Given the description of an element on the screen output the (x, y) to click on. 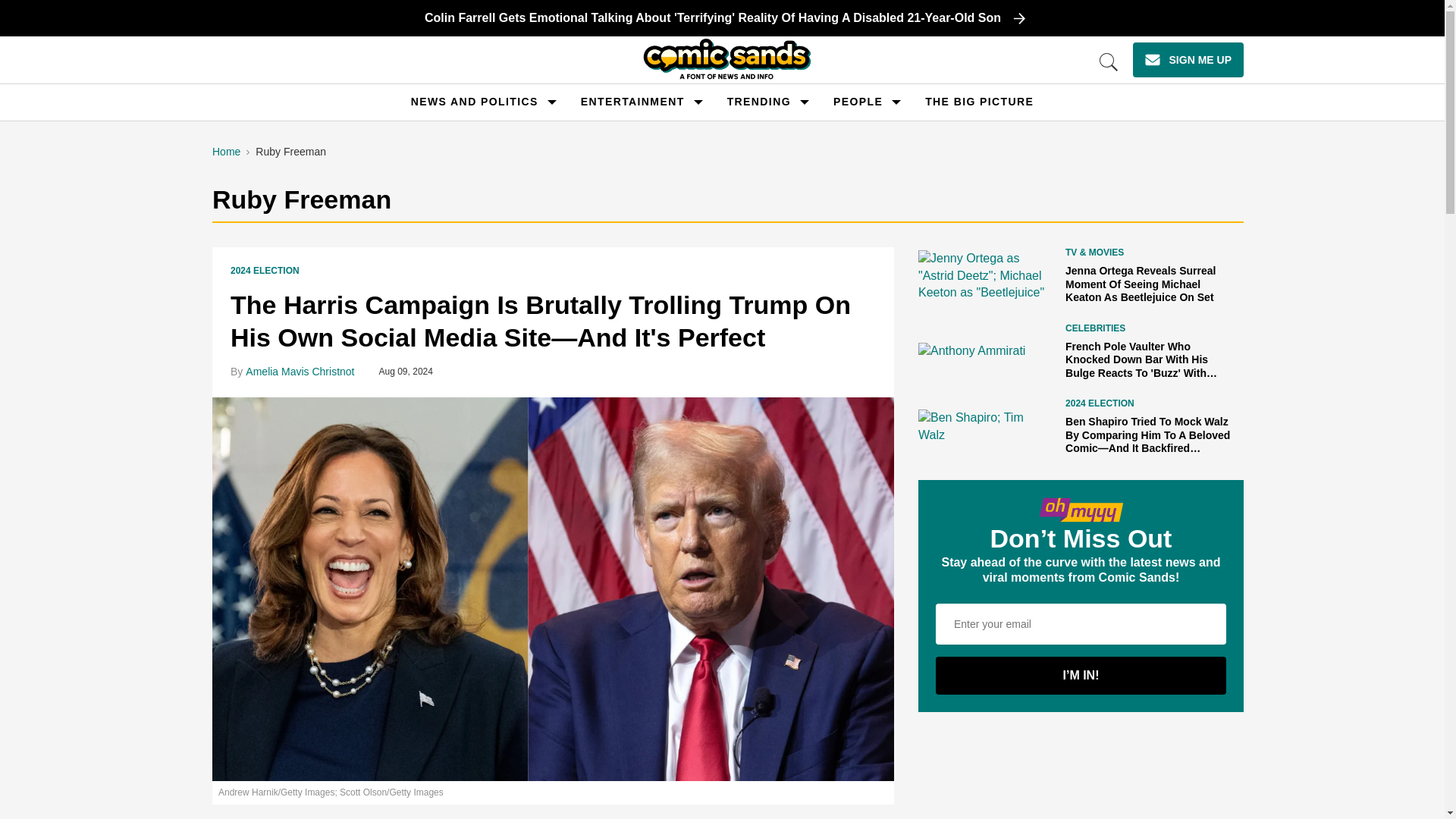
Open Search (1108, 61)
NEWS AND POLITICS (474, 101)
SIGN ME UP (1187, 59)
Open Search (1108, 61)
